Given the description of an element on the screen output the (x, y) to click on. 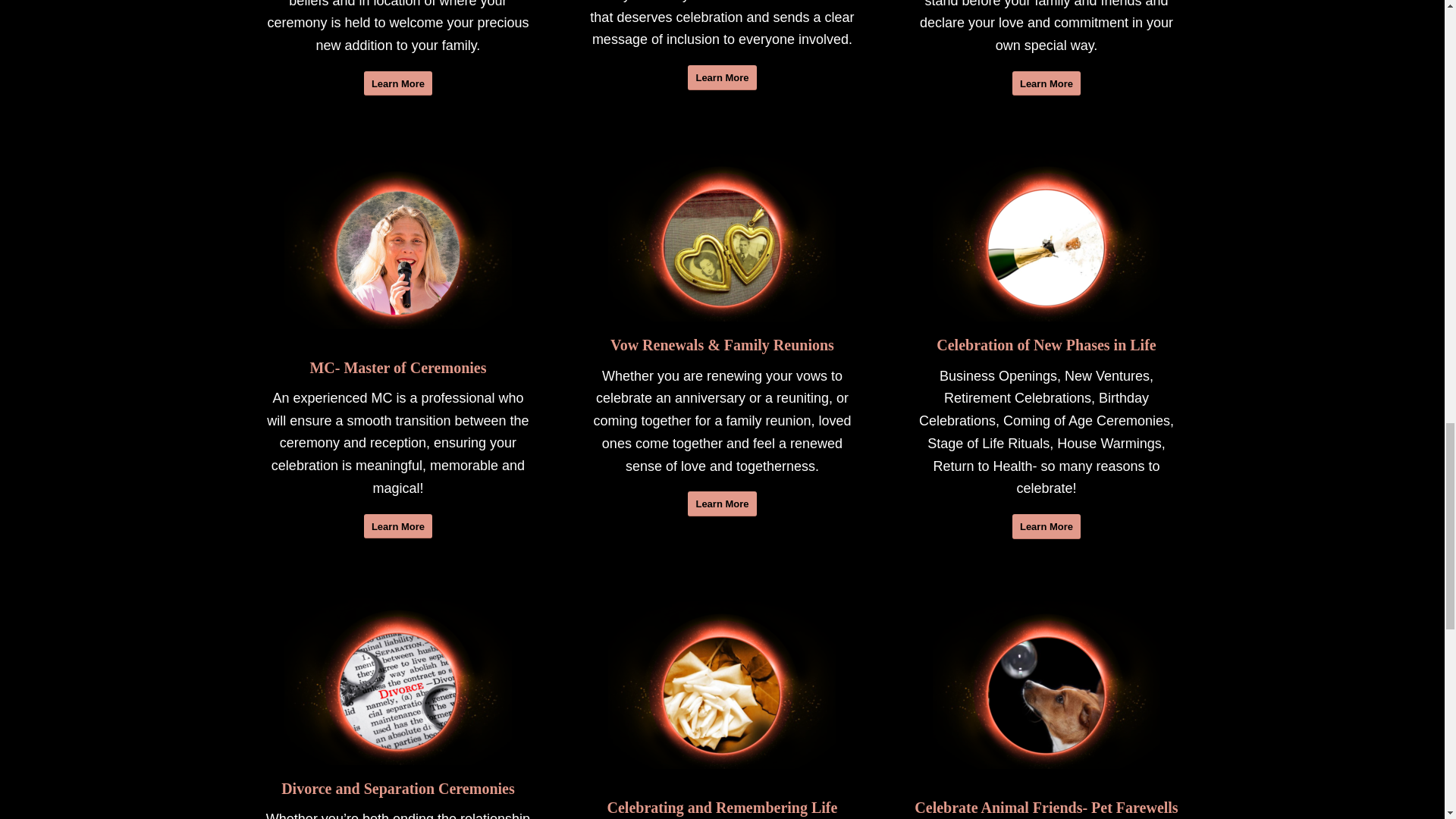
Learn More (398, 83)
Learn More (721, 503)
Learn More (1045, 526)
Learn More (721, 77)
Divorce and Separation Ceremonies (398, 788)
Learn More (1045, 83)
Celebration of New Phases in Life (1046, 344)
MC- Master of Ceremonies (397, 367)
Learn More (398, 526)
